Given the description of an element on the screen output the (x, y) to click on. 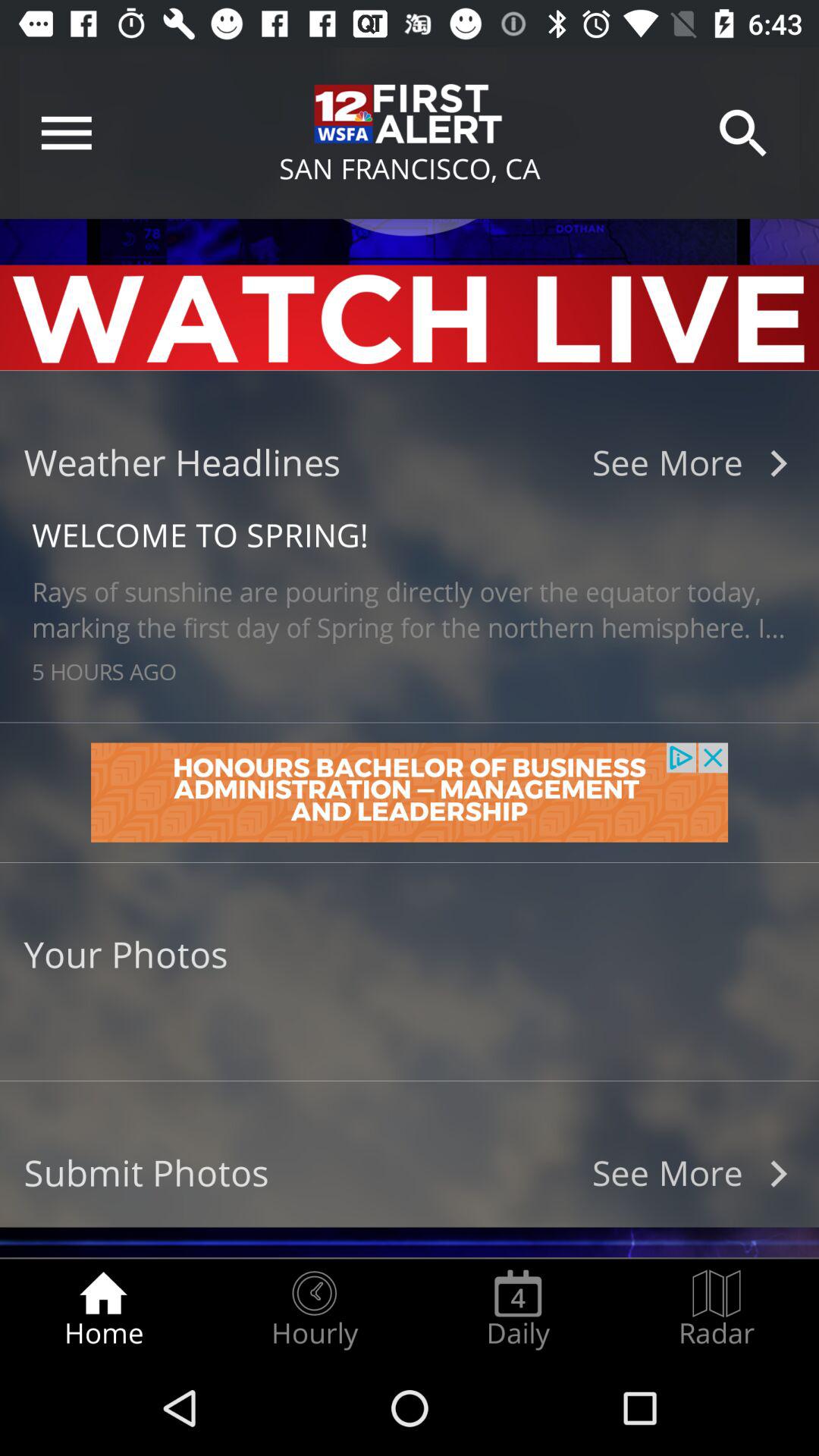
flip until the radar (716, 1309)
